Given the description of an element on the screen output the (x, y) to click on. 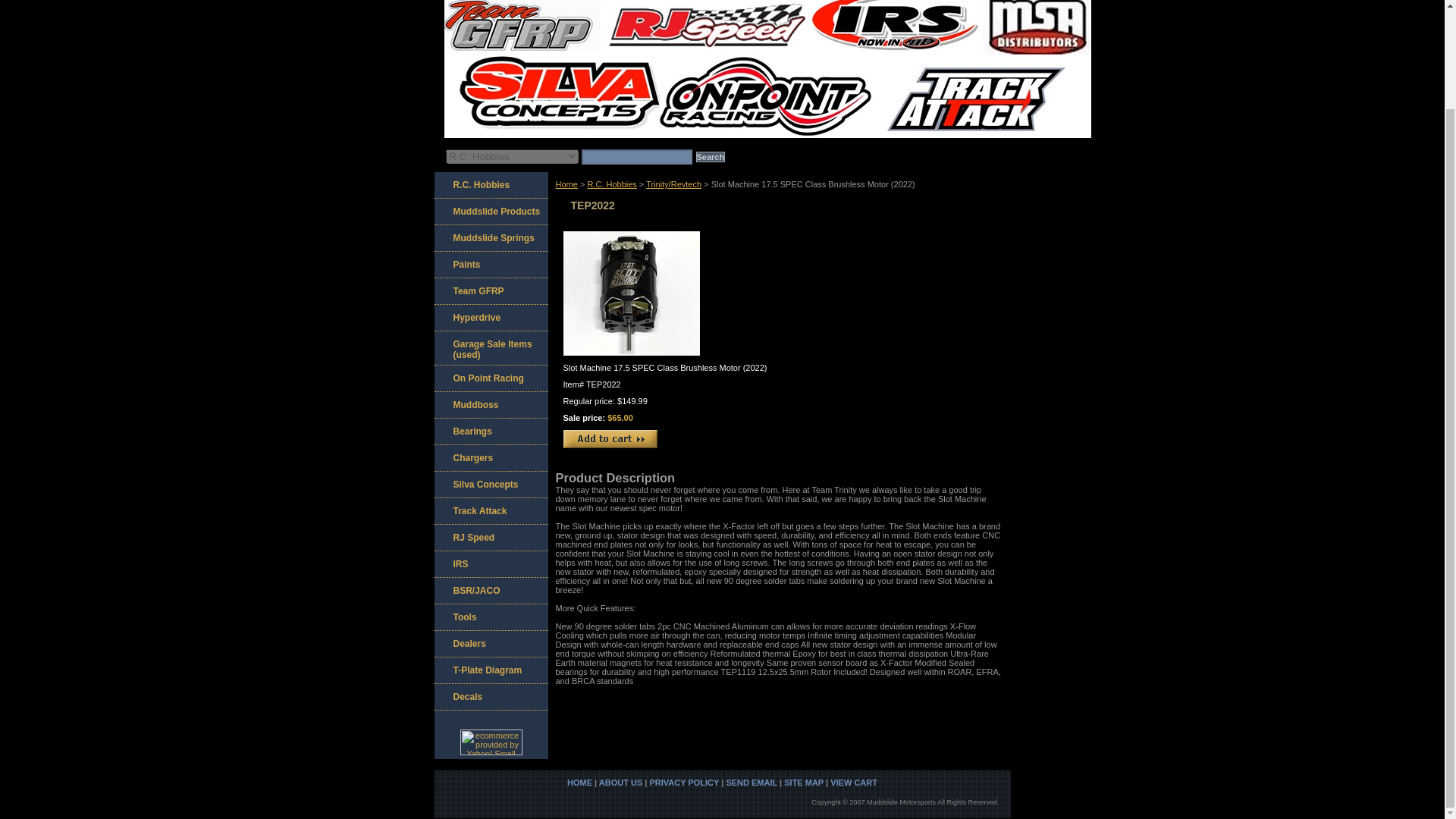
Muddslide Products (490, 212)
Add to cart (609, 438)
Paints (490, 264)
RJ Speed (490, 537)
IRS (490, 564)
R.C. Hobbies (490, 185)
VIEW CART (853, 782)
Muddslide Springs (490, 238)
Dealers (490, 643)
Search (710, 156)
